Given the description of an element on the screen output the (x, y) to click on. 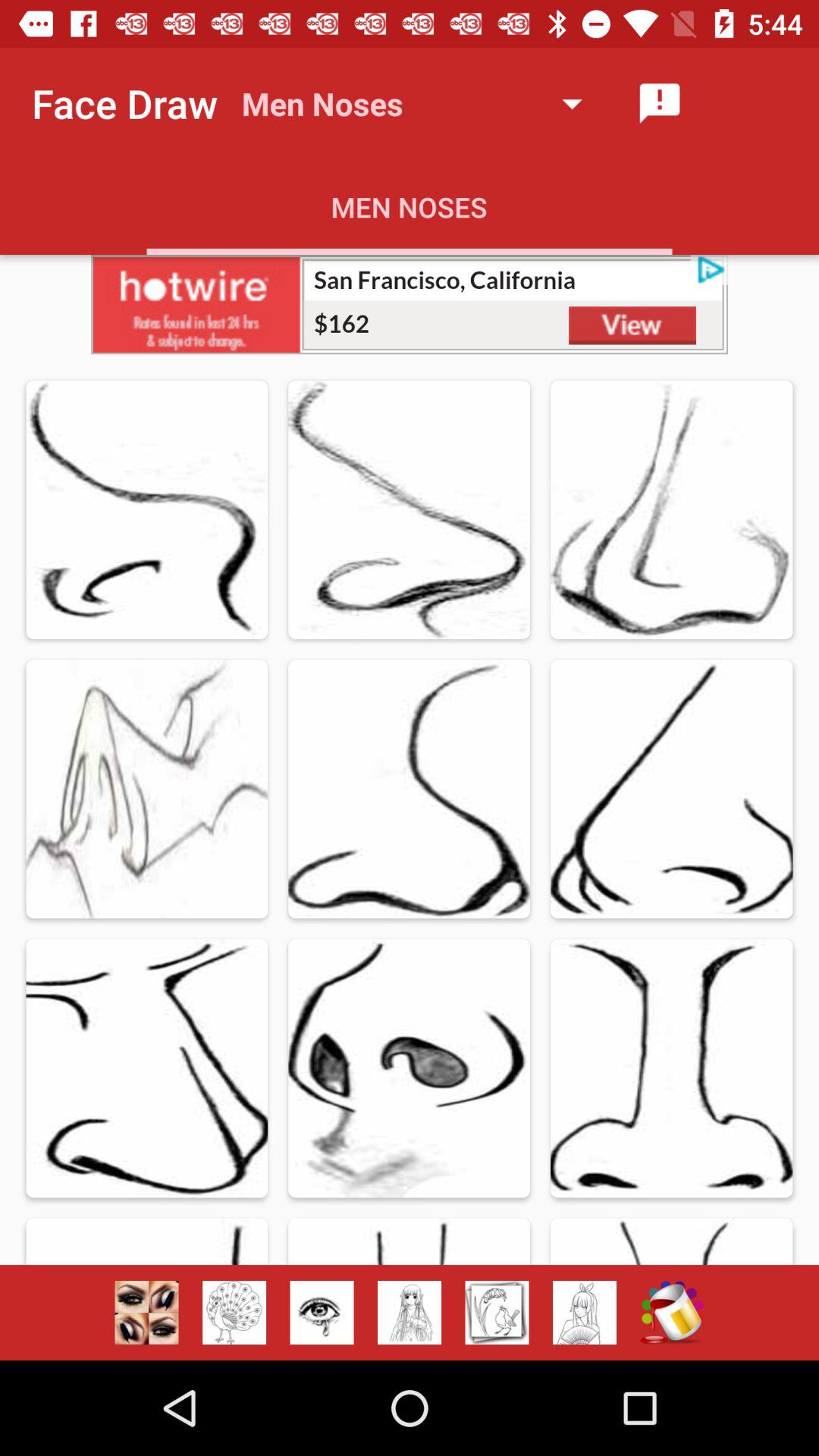
advertisement (409, 304)
